Given the description of an element on the screen output the (x, y) to click on. 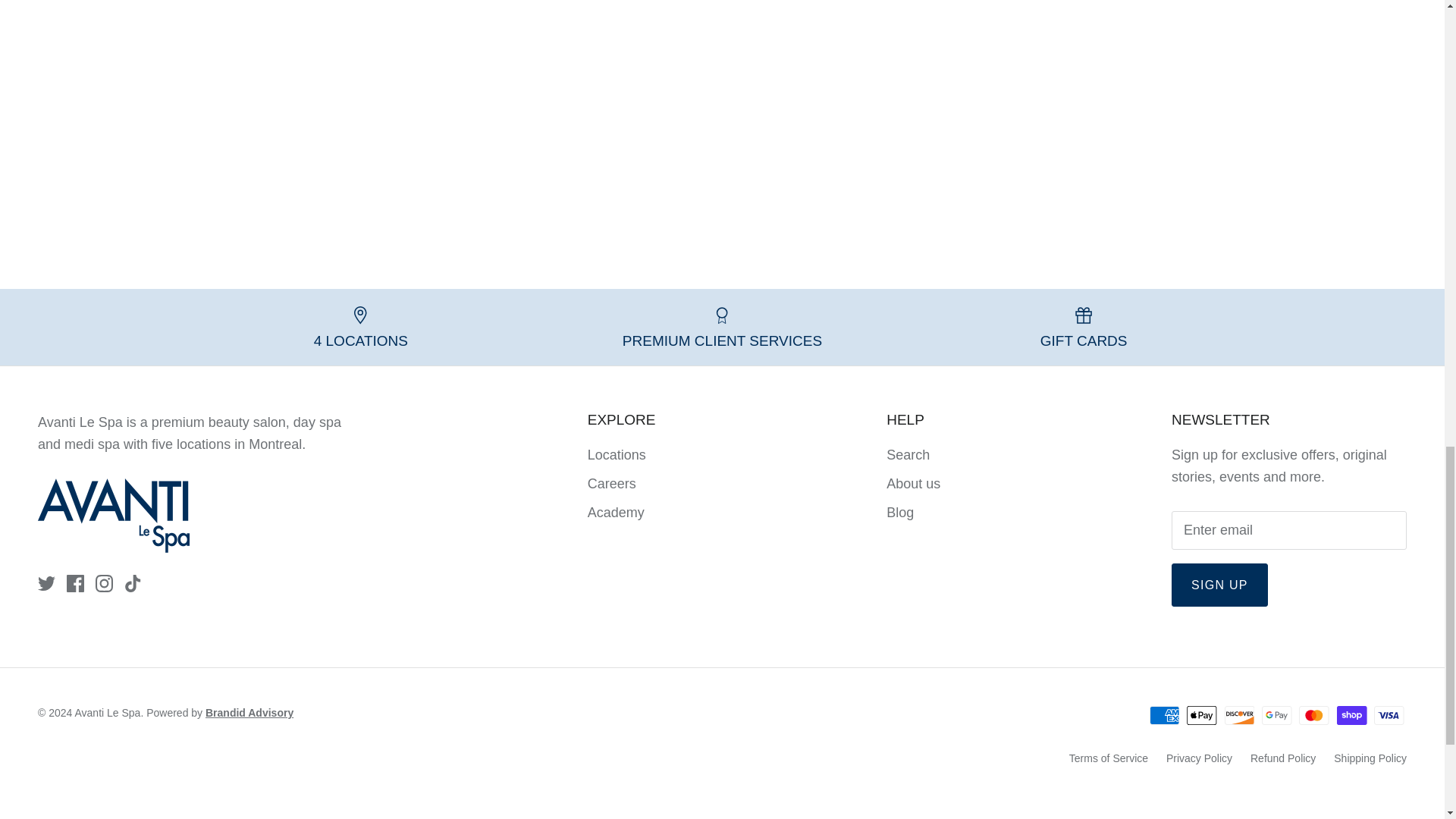
Twitter (46, 583)
American Express (1164, 714)
Discover (1239, 714)
Facebook (75, 583)
Instagram (104, 583)
Apple Pay (1201, 714)
